Given the description of an element on the screen output the (x, y) to click on. 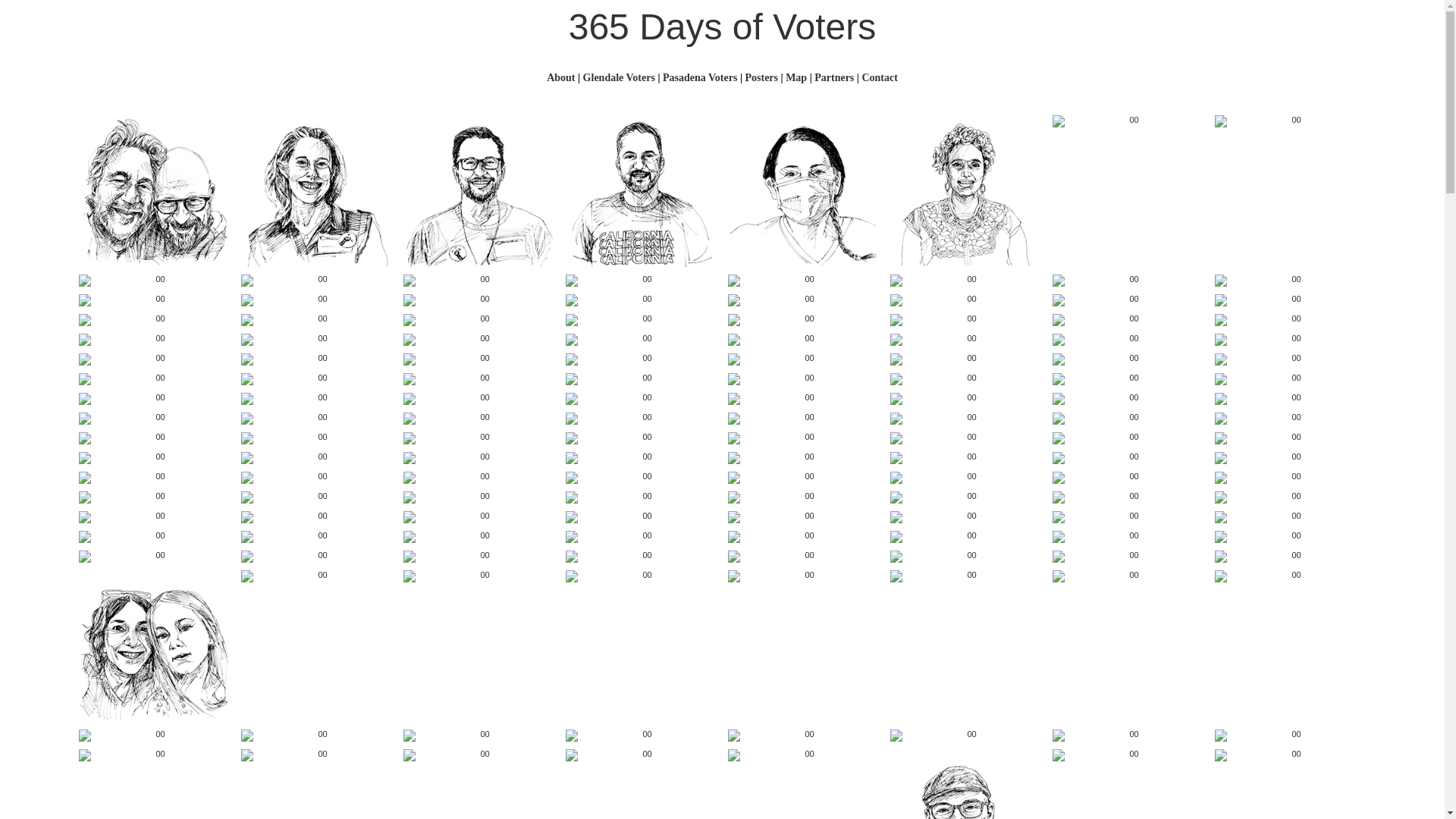
About Element type: text (560, 77)
Miguel: We all need to vote. Element type: hover (154, 755)
Shawn: I vote , therefore I am. Element type: hover (641, 497)
Reginald: Freedom/Democracy. Element type: hover (1290, 438)
Christian: I vote for the future. Element type: hover (479, 556)
Jonathan: I vote for a better life. Element type: hover (1128, 477)
Fredy: First time voting. Element type: hover (641, 438)
Contact Element type: text (879, 77)
Davon: I vote for liberation of spiritually enslaved people. Element type: hover (641, 536)
Lynne: In my lexicon, Democracy is a verb. Element type: hover (316, 319)
Shannon: I need someone that will make a change. Element type: hover (1128, 438)
Gregory: Democracy is on the ballot! VOTE!! Element type: hover (316, 735)
Hripsime: Every vote counts! Element type: hover (641, 280)
Boris: Voting is definitely a change. Element type: hover (1128, 755)
Map Element type: text (795, 77)
Pasadena Voters Element type: text (699, 77)
Mellie: I vote for change for the better for everyone. Element type: hover (316, 755)
Selena: Voting because I want to exercise my right to vote! Element type: hover (1128, 457)
Charlotte: I vote every year. Element type: hover (479, 398)
Lizzy: I vote because now I can vote! Element type: hover (803, 477)
Karen: Everyone should have a voice. Element type: hover (965, 457)
365 Days of Voters Element type: text (722, 26)
Avigail: This is my first time voting. Element type: hover (803, 438)
Gary: First time voter, would like to help make change. Element type: hover (479, 477)
Richard: Our lives are not an experiment in our projects! Element type: hover (154, 438)
Rachel: I vote to help build the future I want to see. Element type: hover (316, 190)
Partners Element type: text (833, 77)
Gloria: I want to motivate others to vote. Element type: hover (316, 477)
Rohshan Juliana: I vote because I want change. Element type: hover (479, 418)
Priscilla: Voting for my first time. Element type: hover (965, 735)
Posters Element type: text (761, 77)
Jennifer: I want a better world for my son. Element type: hover (1290, 319)
Dana: I want to make a change. Element type: hover (1128, 735)
Robert: Restore Normalcy. Element type: hover (1128, 319)
Evelyn: We are the future. Element type: hover (641, 755)
Terri: I want to see change in the community. Element type: hover (965, 438)
Glendale Voters Element type: text (619, 77)
Flea: I care. Element type: hover (316, 418)
